Given the description of an element on the screen output the (x, y) to click on. 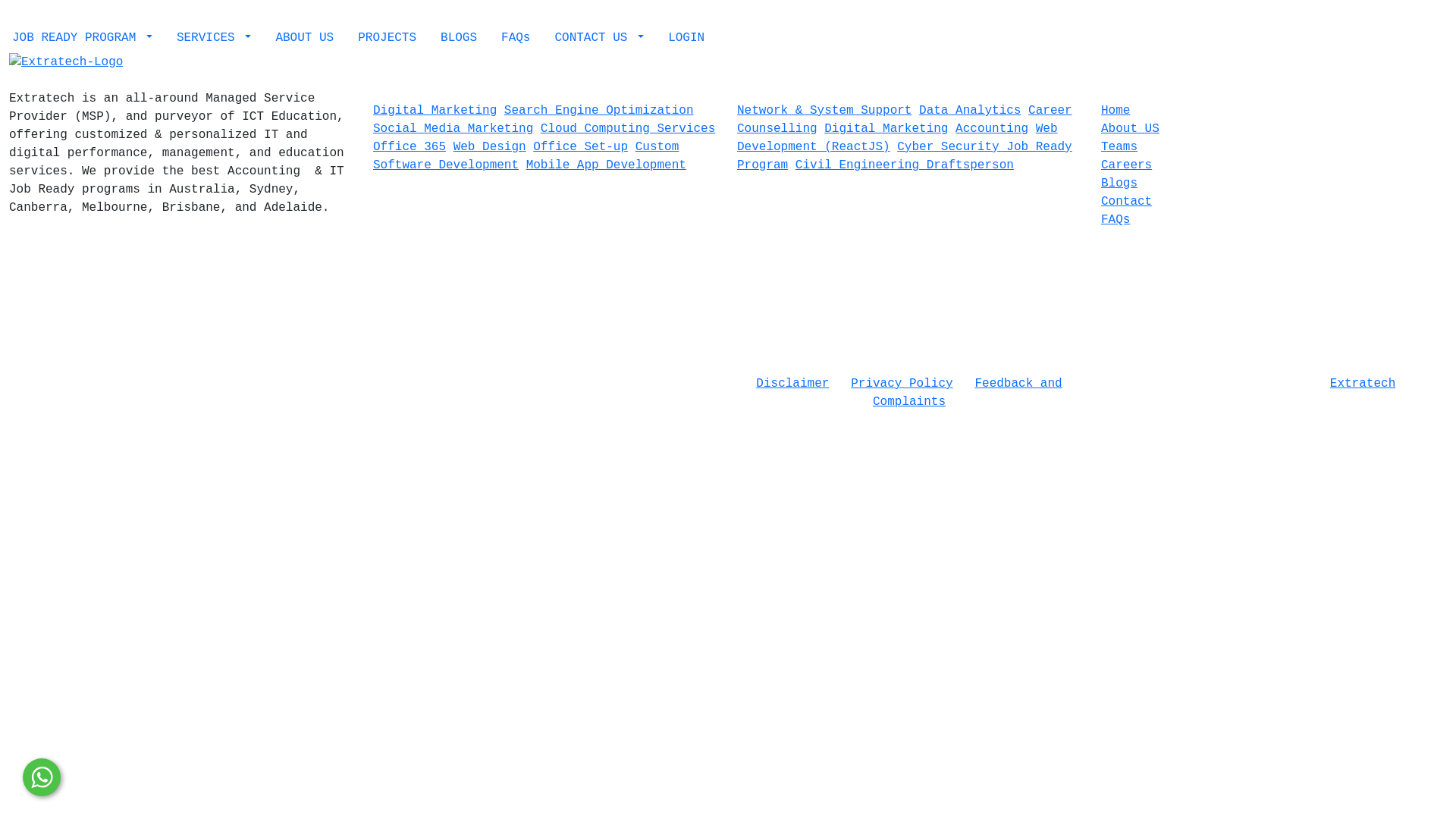
Civil Engineering Draftsperson Element type: text (904, 165)
Disclaimer Element type: text (792, 383)
PROJECTS Element type: text (386, 37)
Extratech Element type: text (1362, 383)
BLOGS Element type: text (458, 37)
Search Engine Optimization Element type: text (598, 110)
Home Element type: text (1115, 110)
LOGIN Element type: text (685, 37)
Cyber Security Job Ready Program Element type: text (904, 156)
Teams Element type: text (1119, 146)
Web Design Element type: text (489, 146)
JOB READY PROGRAM Element type: text (82, 37)
FAQs Element type: text (1115, 219)
Digital Marketing Element type: text (885, 128)
Accounting Element type: text (991, 128)
Blogs Element type: text (1119, 183)
Web Development (ReactJS) Element type: text (897, 137)
About US Element type: text (1130, 128)
Office 365 Element type: text (409, 146)
Network & System Support Element type: text (824, 110)
Careers Element type: text (1126, 165)
Career Counselling Element type: text (904, 119)
ABOUT US Element type: text (304, 37)
CONTACT US Element type: text (598, 37)
Social Media Marketing Element type: text (453, 128)
Contact Element type: text (1126, 201)
Office Set-up Element type: text (580, 146)
Custom Software Development Element type: text (525, 156)
Digital Marketing Element type: text (434, 110)
Cloud Computing Services Element type: text (627, 128)
Data Analytics Element type: text (969, 110)
Privacy Policy Element type: text (901, 383)
Feedback and Complaints Element type: text (967, 392)
FAQs Element type: text (515, 37)
SERVICES Element type: text (213, 37)
Mobile App Development Element type: text (606, 165)
